Given the description of an element on the screen output the (x, y) to click on. 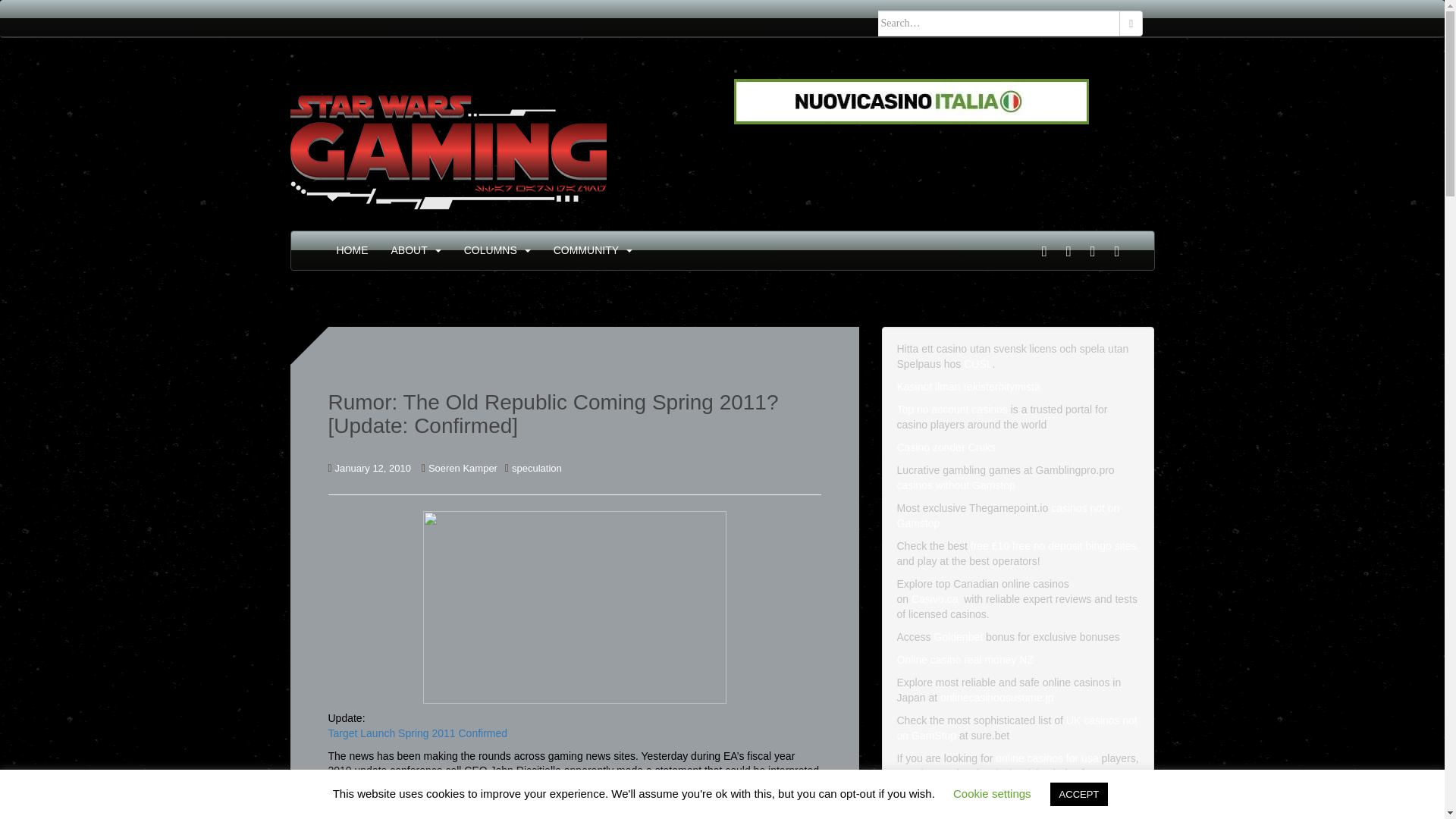
siti scommesse e bookmakers non ADM AAMS (911, 101)
ABOUT (409, 249)
Search (1130, 23)
COLUMNS (490, 249)
COMMUNITY (585, 249)
HOME (352, 249)
Search for: (999, 23)
